Given the description of an element on the screen output the (x, y) to click on. 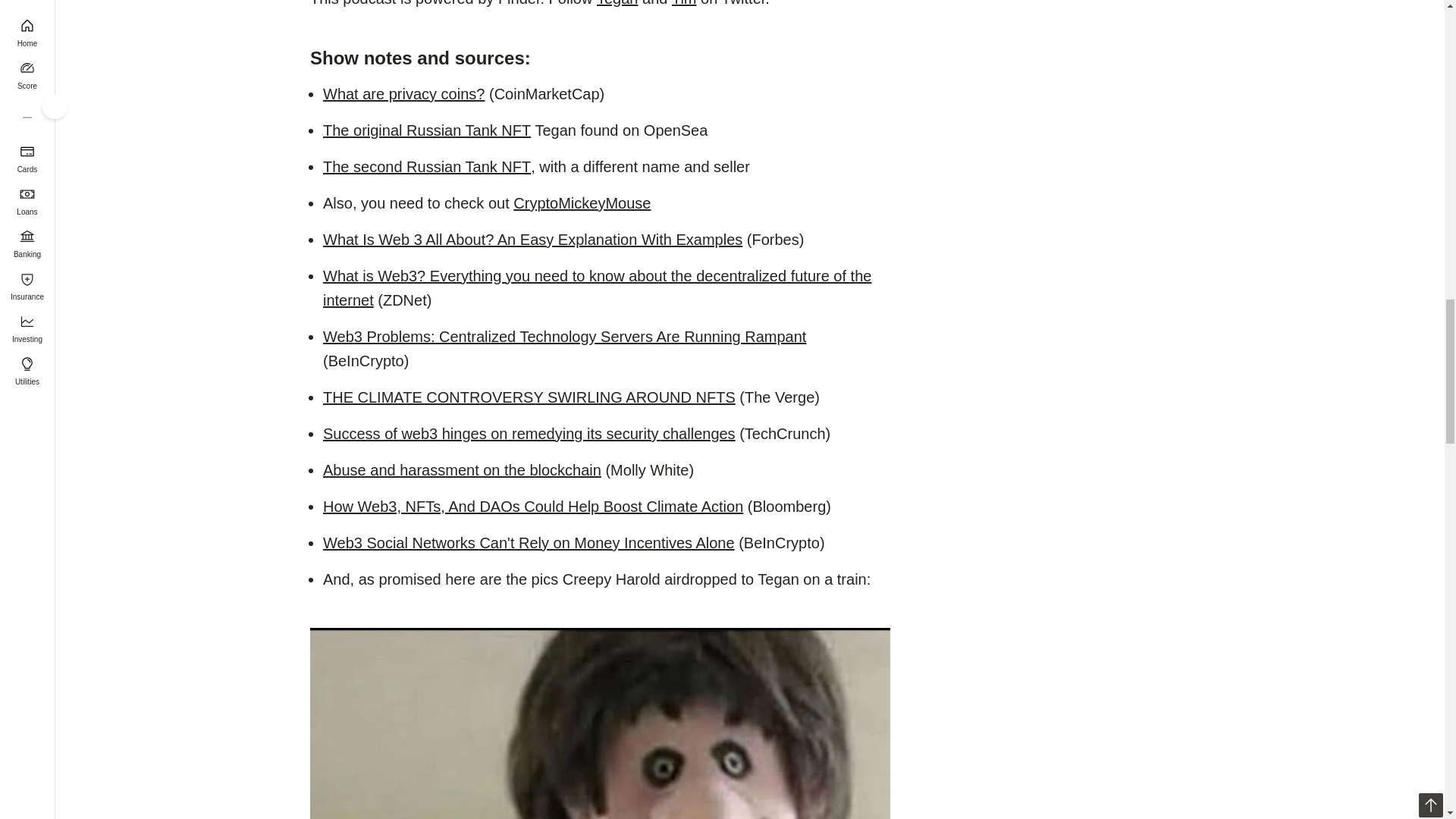
Image: Supplied (599, 723)
